Given the description of an element on the screen output the (x, y) to click on. 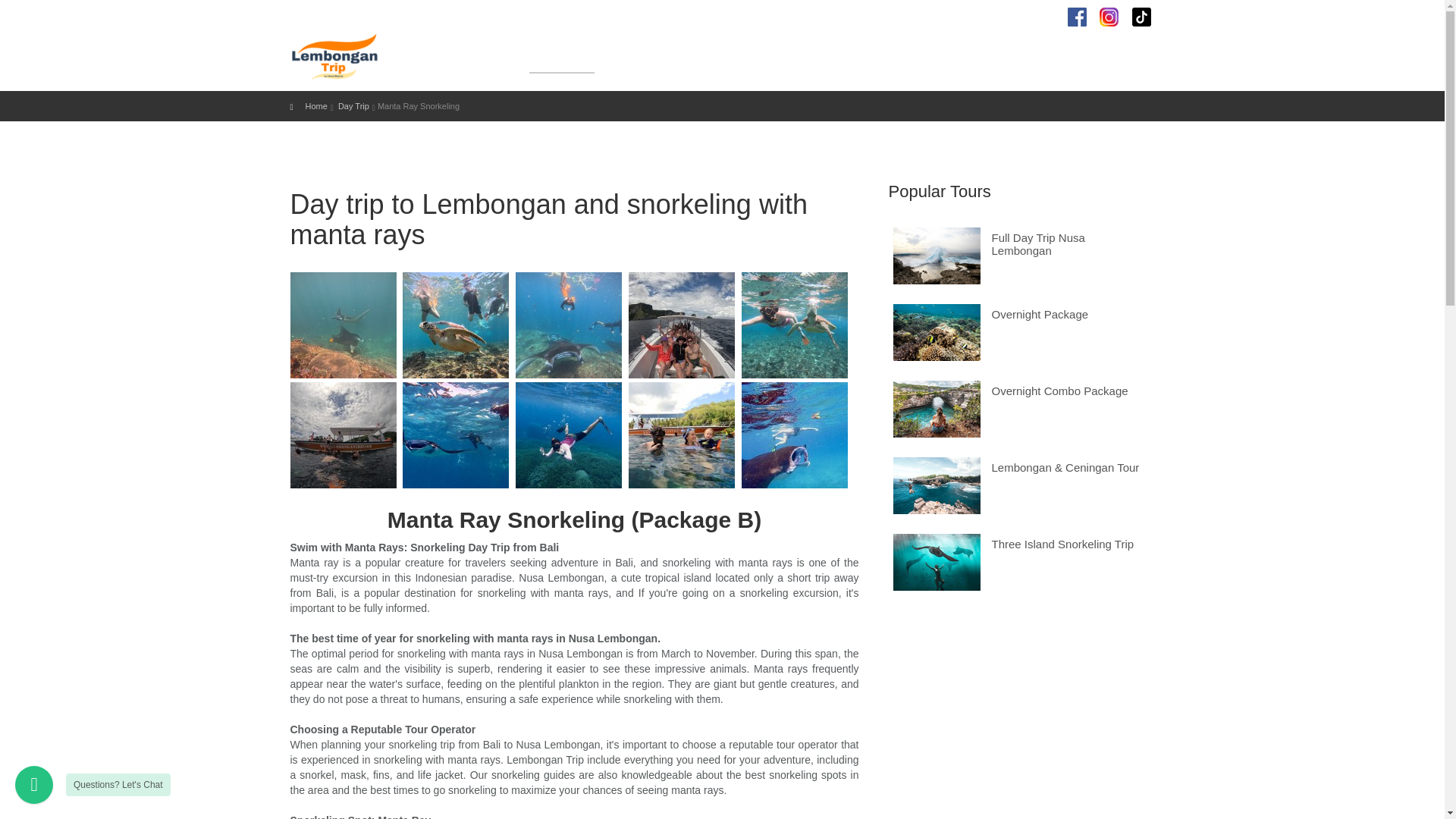
Click to Open (1014, 15)
Day Trip (561, 57)
Home (457, 57)
Tours (807, 57)
Island Info (942, 57)
Fast Boat (869, 57)
Lembongan Trip (313, 54)
Snorkeling (631, 57)
About Us (502, 57)
Overnight Package (725, 57)
